Given the description of an element on the screen output the (x, y) to click on. 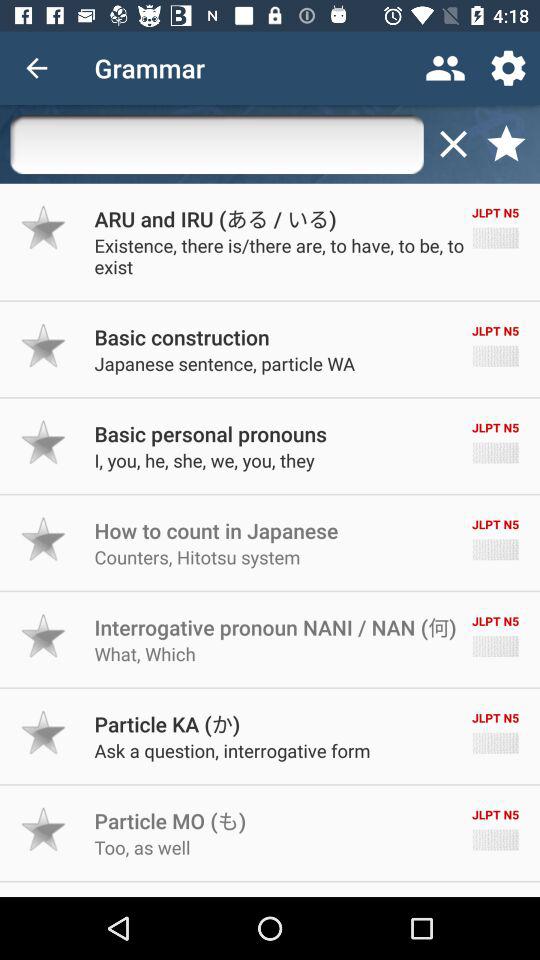
flip to the ask a question (232, 750)
